Given the description of an element on the screen output the (x, y) to click on. 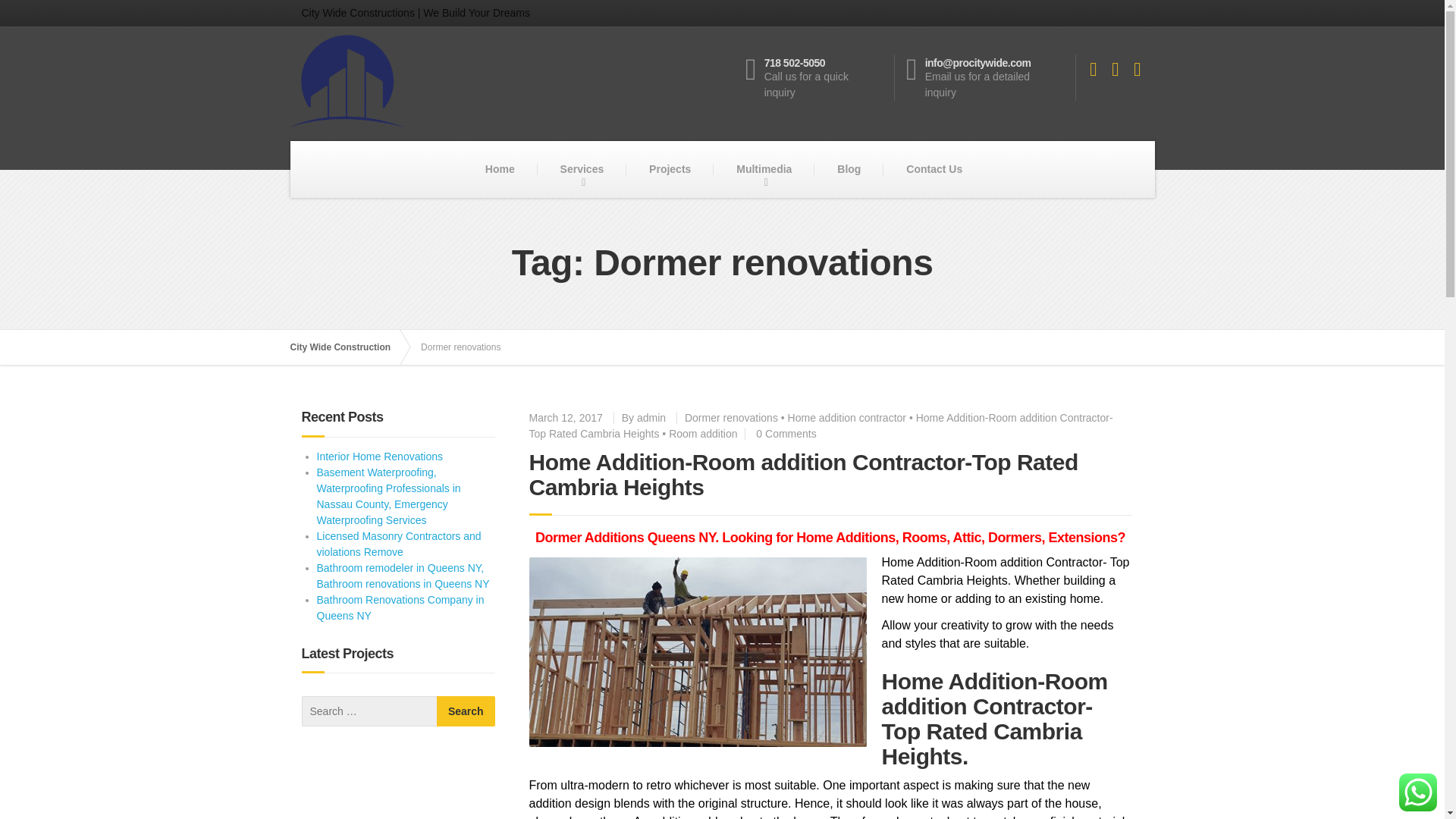
Services (582, 169)
Go to City Wide Construction. (347, 347)
Dormer renovations (730, 417)
0 Comments (785, 433)
City Wide Construction (347, 347)
Home (500, 169)
Contact Us (820, 77)
Projects (934, 169)
Search (669, 169)
Home addition contractor (465, 711)
Blog (846, 417)
Room addition (848, 169)
